Given the description of an element on the screen output the (x, y) to click on. 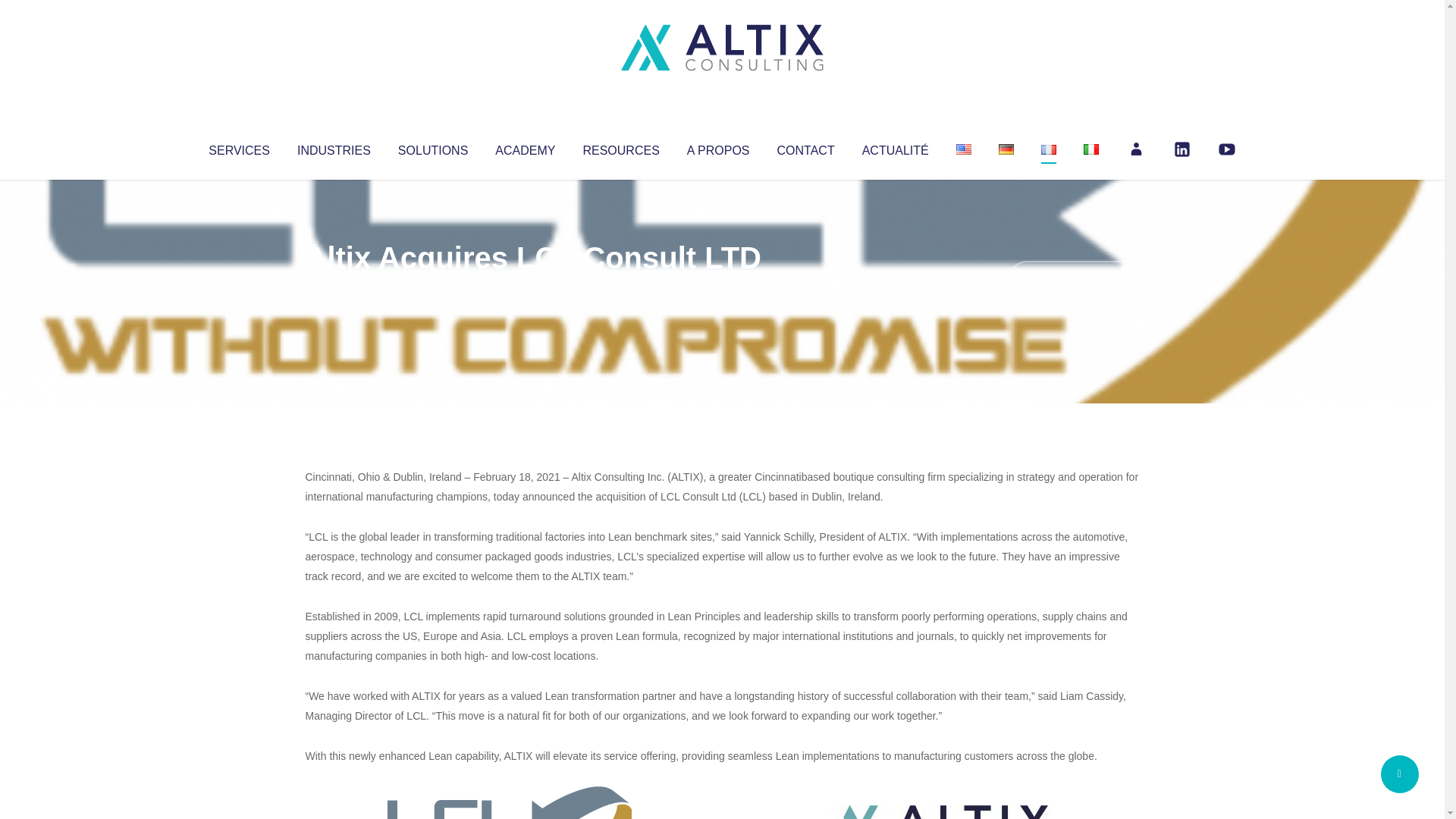
INDUSTRIES (334, 146)
RESOURCES (620, 146)
Articles par Altix (333, 287)
A PROPOS (718, 146)
SOLUTIONS (432, 146)
SERVICES (238, 146)
ACADEMY (524, 146)
Altix (333, 287)
No Comments (1073, 278)
Uncategorized (530, 287)
